Given the description of an element on the screen output the (x, y) to click on. 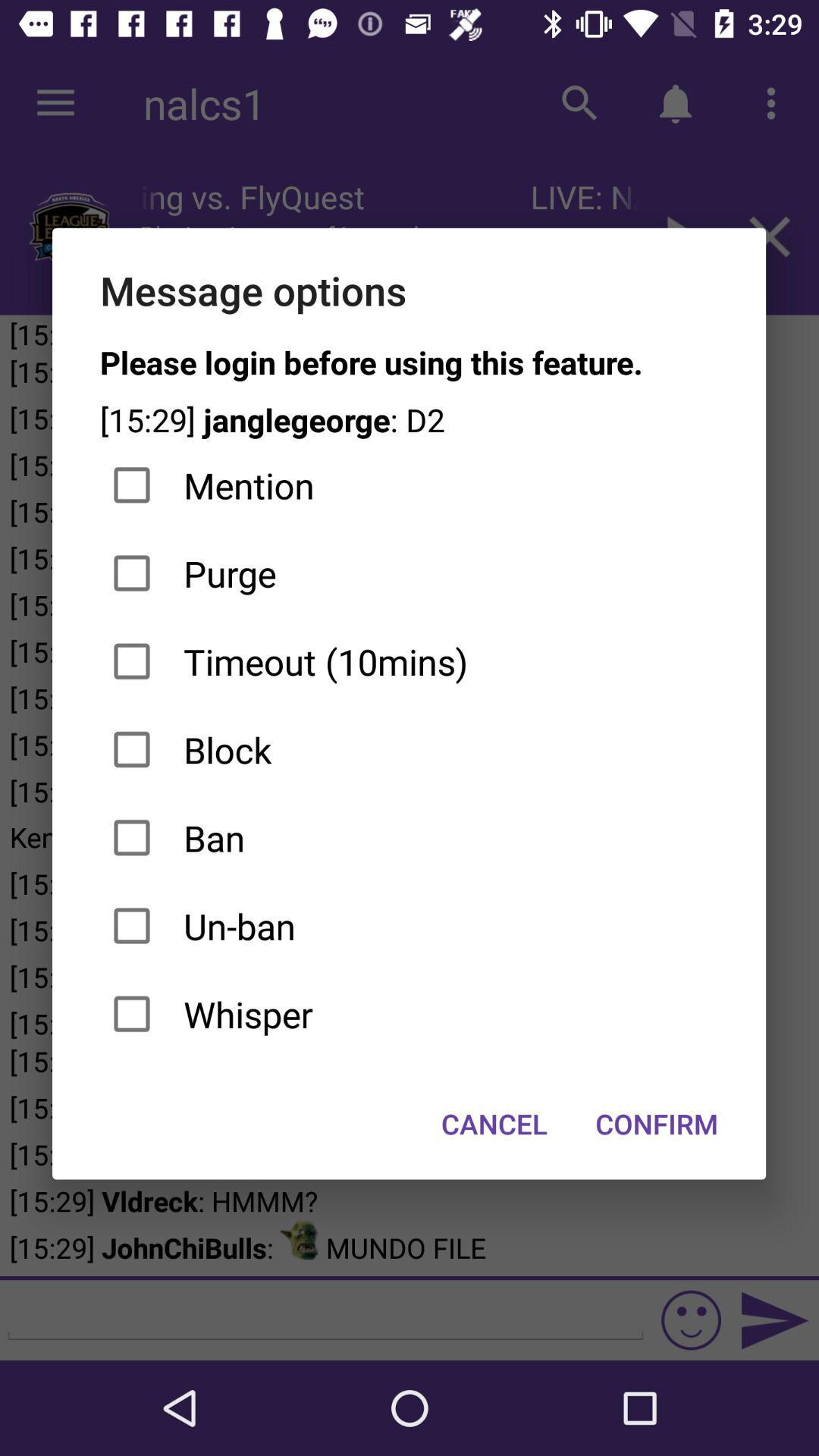
turn on the icon below purge (409, 661)
